Given the description of an element on the screen output the (x, y) to click on. 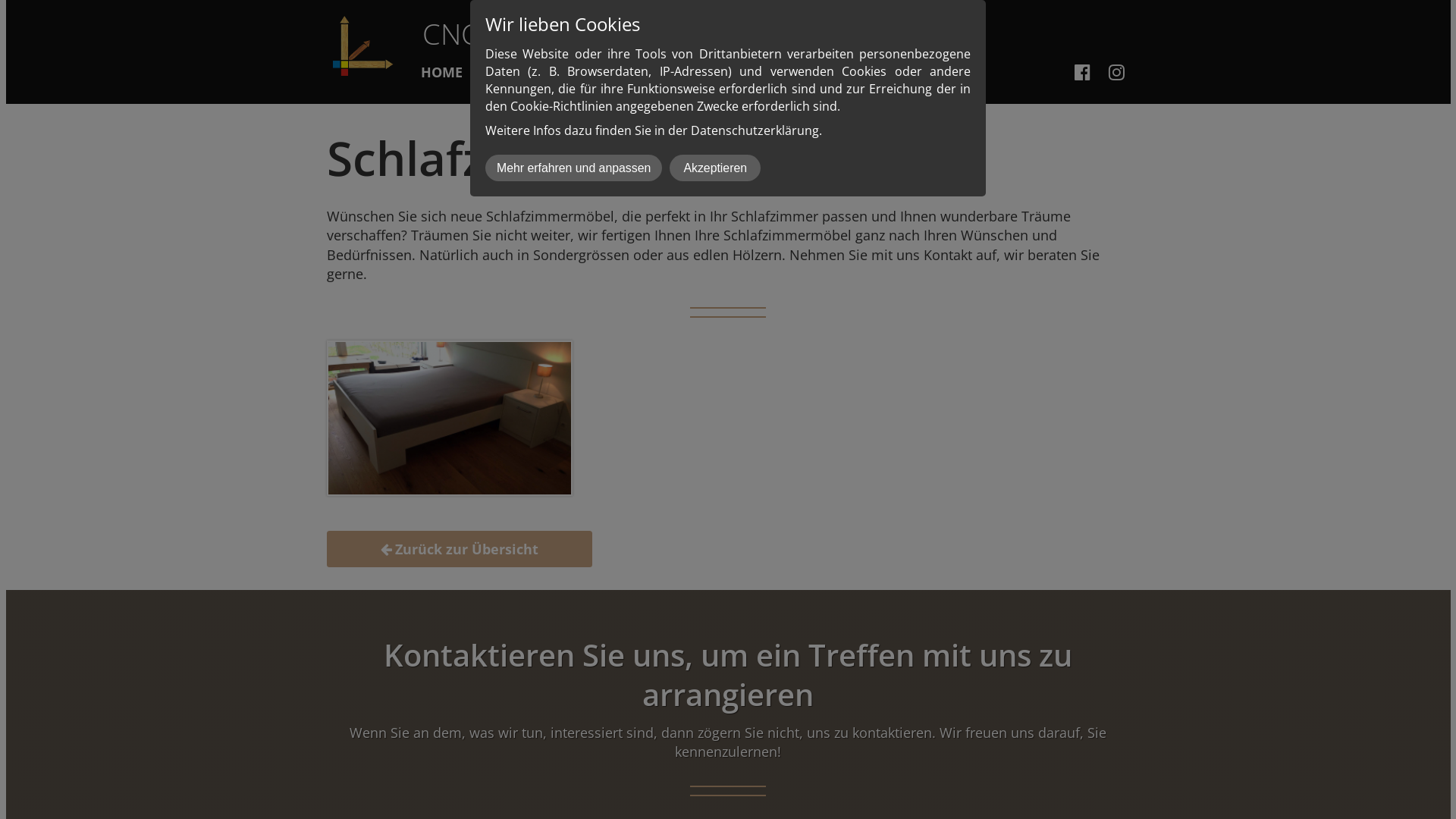
KONTAKT Element type: text (690, 72)
PARTNER Element type: text (785, 72)
HOME Element type: text (441, 72)
Mehr erfahren und anpassen Element type: text (573, 167)
 CNC Schreinerei Lindenbaum Element type: text (609, 33)
Akzeptieren Element type: text (714, 167)
DIENSTLEISTUNGEN Element type: text (560, 72)
  Element type: text (1118, 71)
  Element type: text (1084, 71)
